Given the description of an element on the screen output the (x, y) to click on. 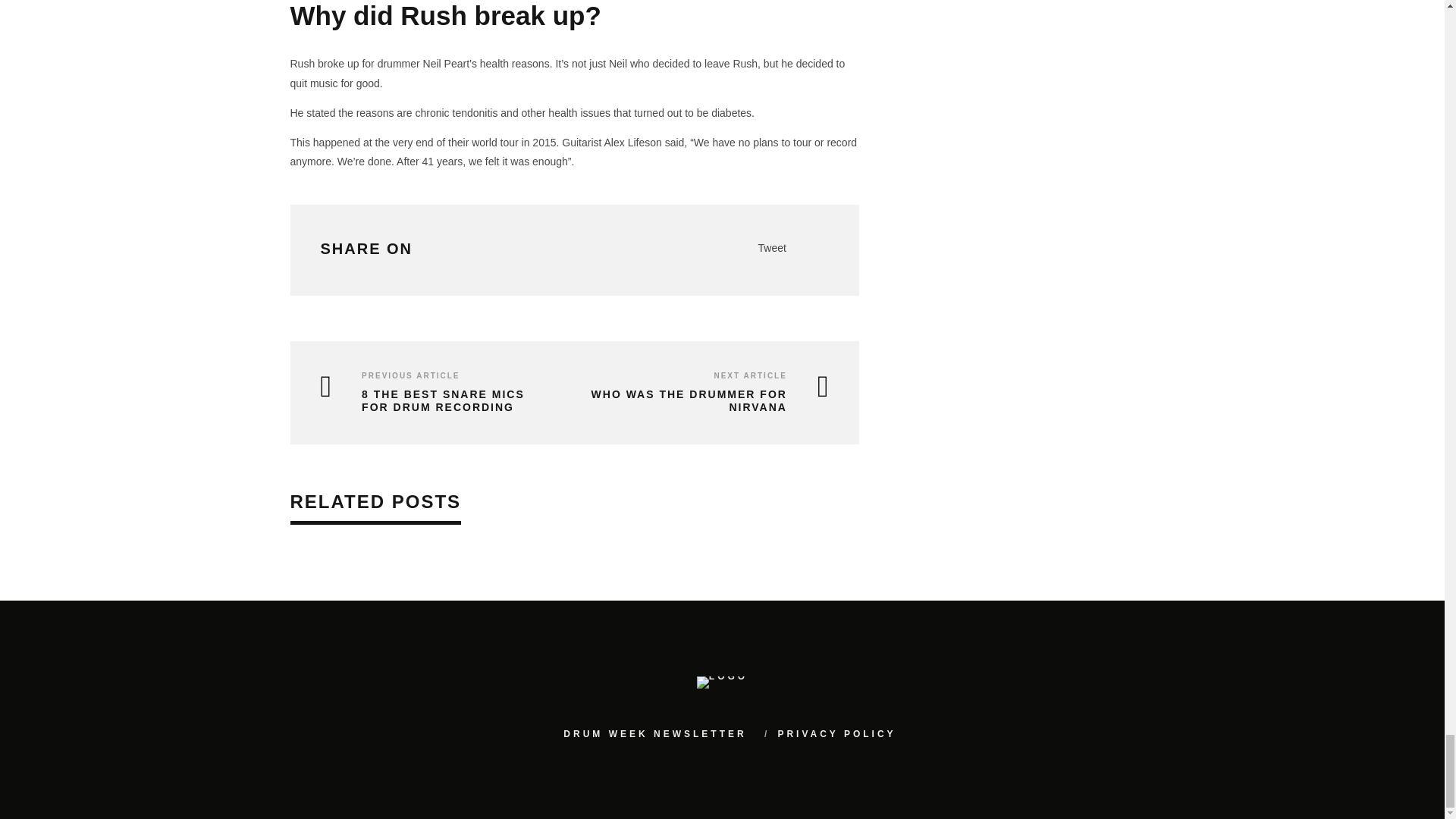
PREVIOUS ARTICLE (410, 375)
Tweet (772, 247)
NEXT ARTICLE (749, 375)
WHO WAS THE DRUMMER FOR NIRVANA (705, 401)
8 THE BEST SNARE MICS FOR DRUM RECORDING (435, 401)
